Given the description of an element on the screen output the (x, y) to click on. 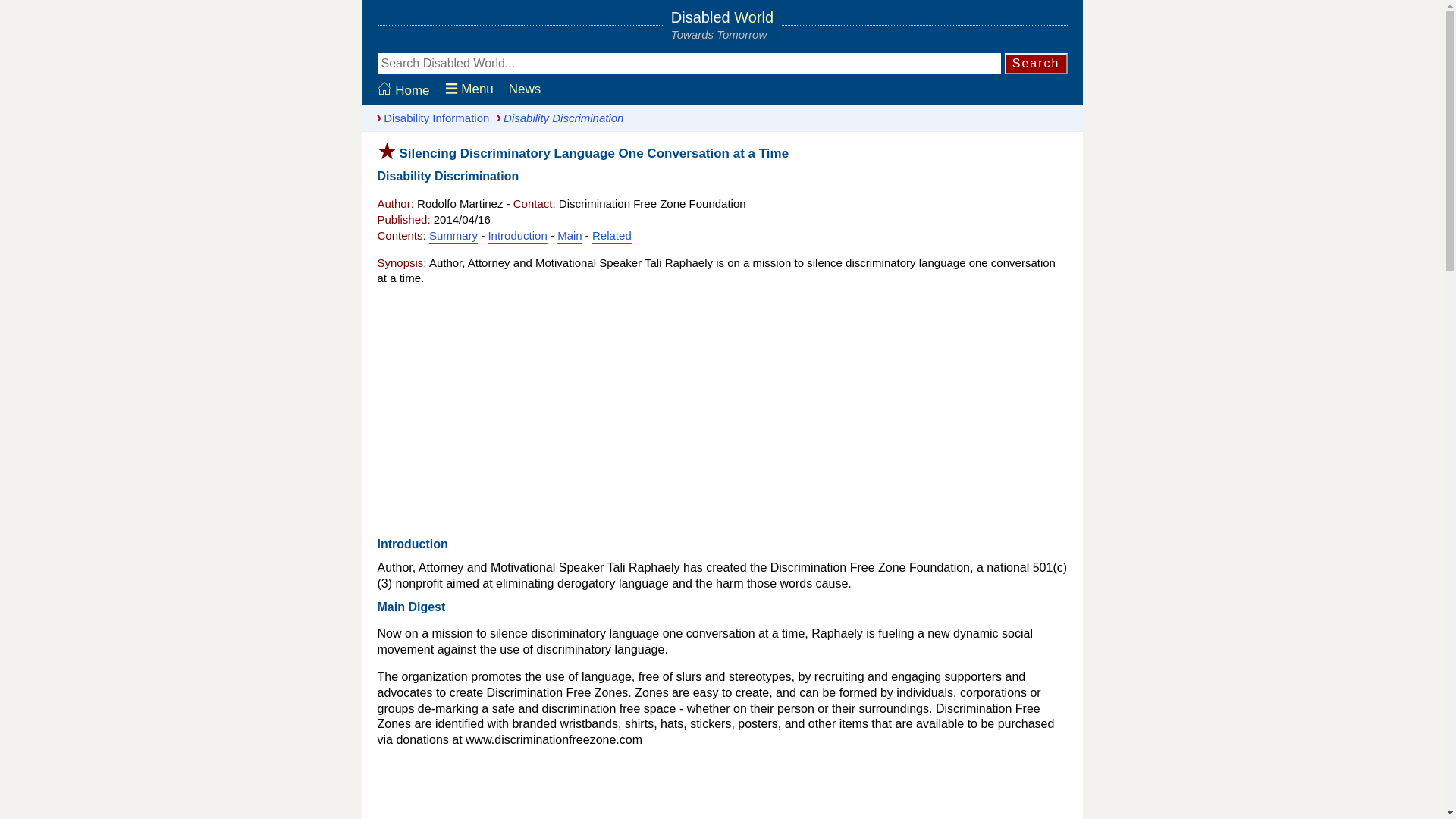
Main (569, 235)
Go to Disability Discrimination (556, 117)
Go to Disability Information (429, 117)
Summary (453, 235)
News (524, 89)
Disability Discrimination (556, 117)
Home (403, 90)
Disability Information (429, 117)
Related (611, 235)
Introduction (517, 235)
